Given the description of an element on the screen output the (x, y) to click on. 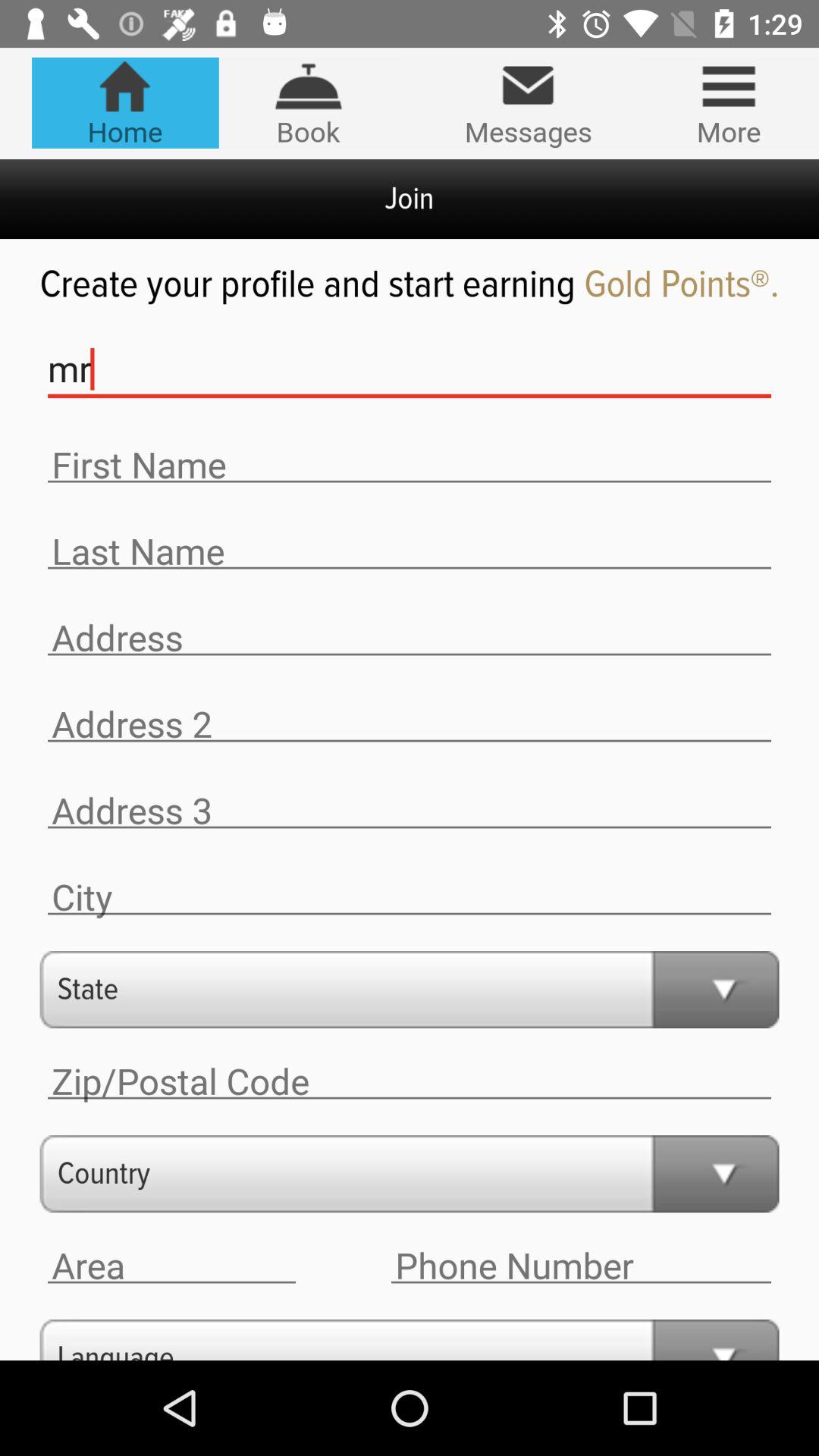
address insert option (409, 724)
